Given the description of an element on the screen output the (x, y) to click on. 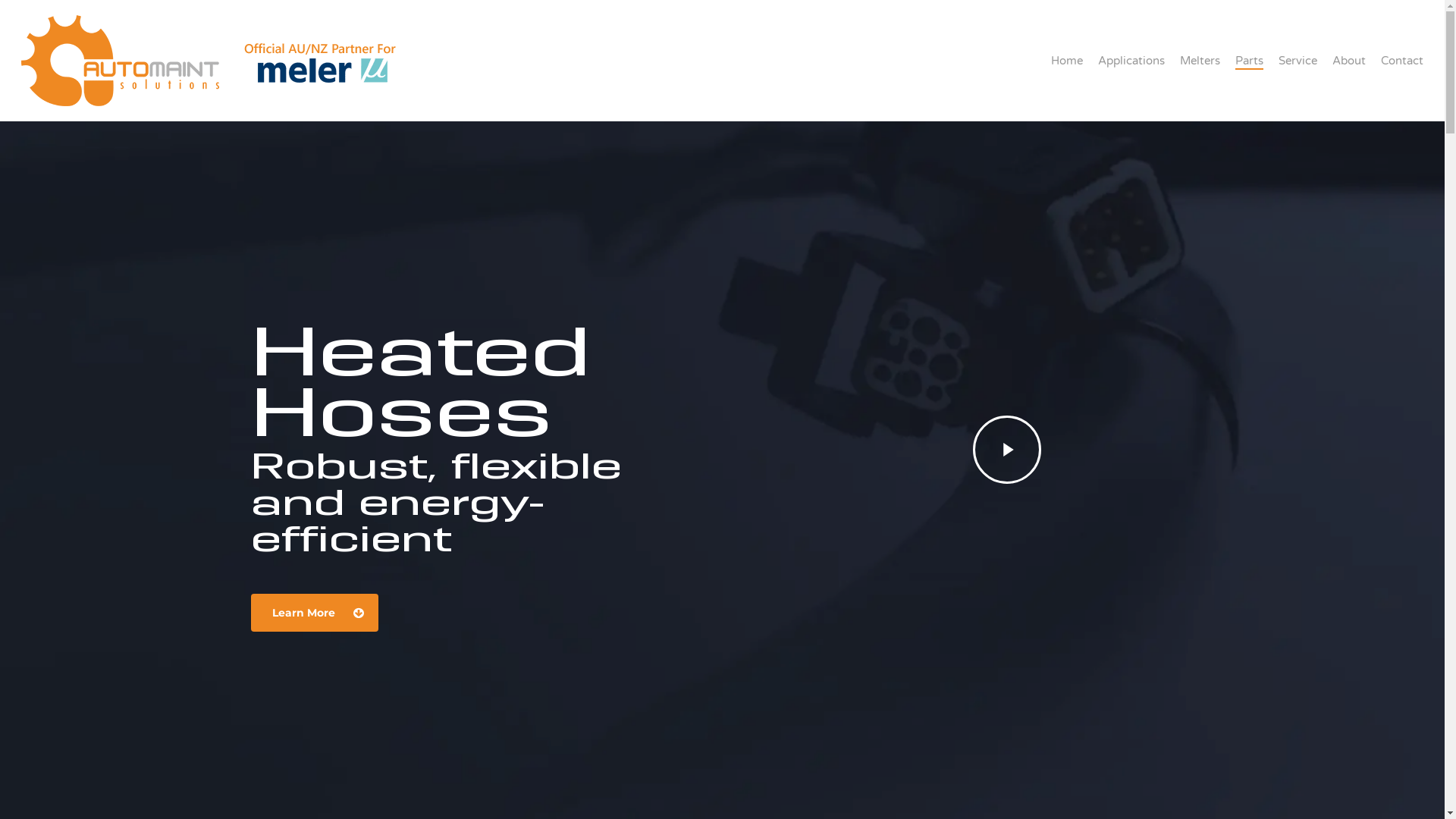
Play Video Element type: text (1006, 449)
Parts Element type: text (1249, 59)
Melters Element type: text (1199, 59)
Service Element type: text (1297, 59)
About Element type: text (1348, 59)
Learn More Element type: text (313, 612)
Contact Element type: text (1401, 59)
Home Element type: text (1066, 59)
Applications Element type: text (1131, 59)
